Given the description of an element on the screen output the (x, y) to click on. 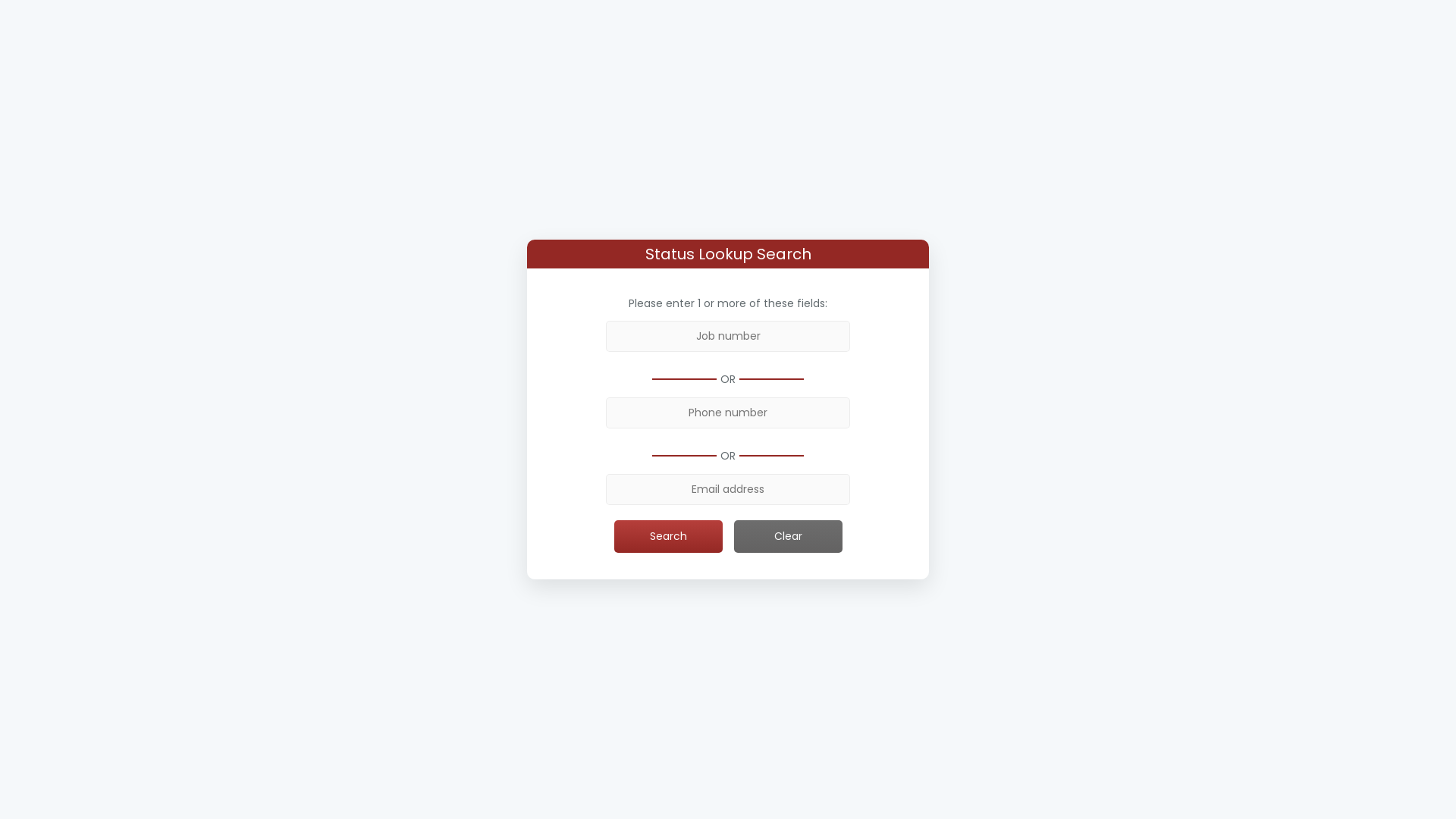
Clear Element type: text (788, 536)
Search Element type: text (668, 536)
